Given the description of an element on the screen output the (x, y) to click on. 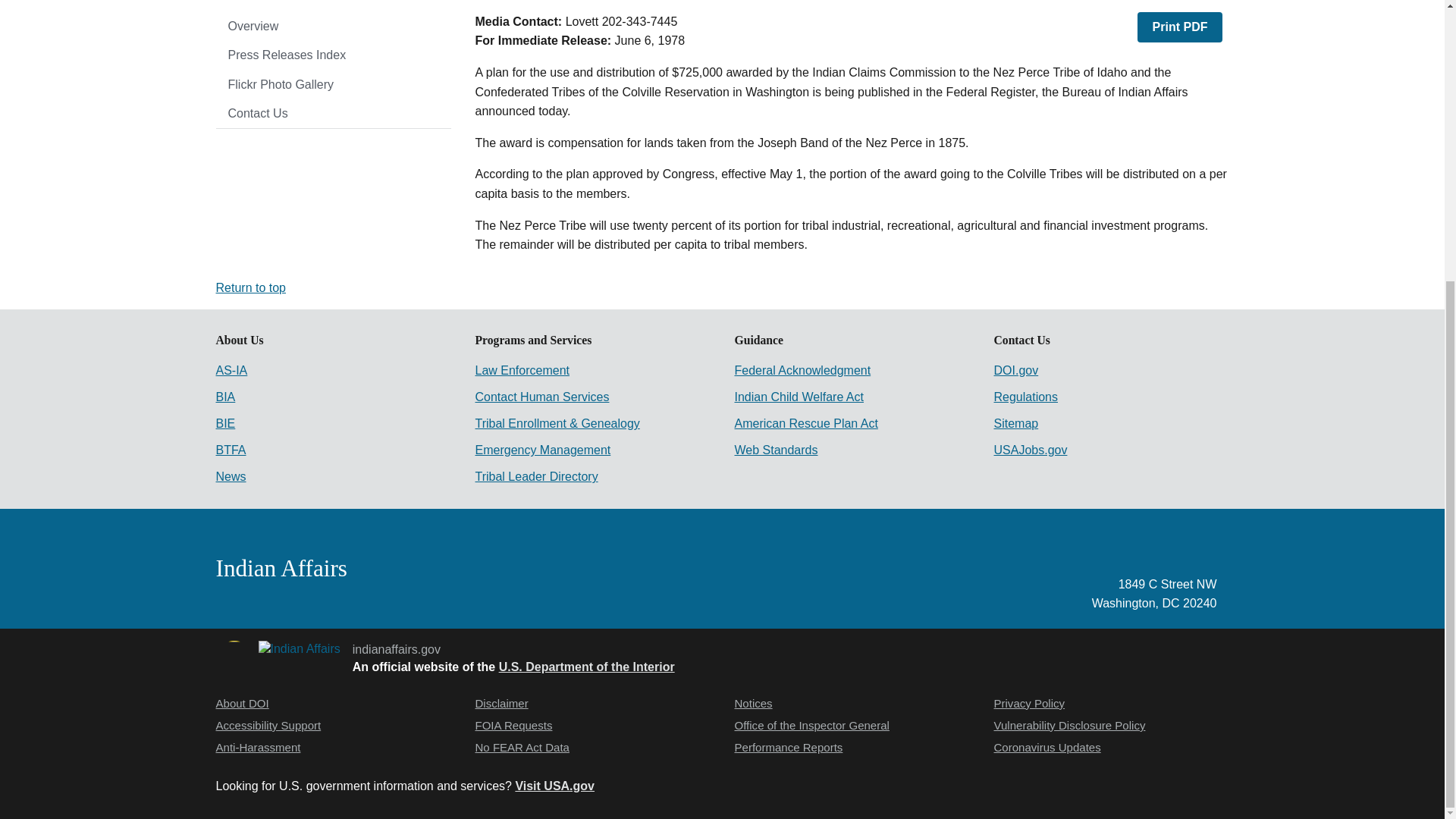
Regulations (1025, 396)
Contact Us (332, 113)
BIE (224, 422)
Web Standards (774, 449)
DOI.gov (1015, 369)
Emergency Management (542, 449)
BIA (224, 396)
Law Enforcement (521, 369)
AS-IA (231, 369)
American Rescue Plan Act (805, 422)
